Given the description of an element on the screen output the (x, y) to click on. 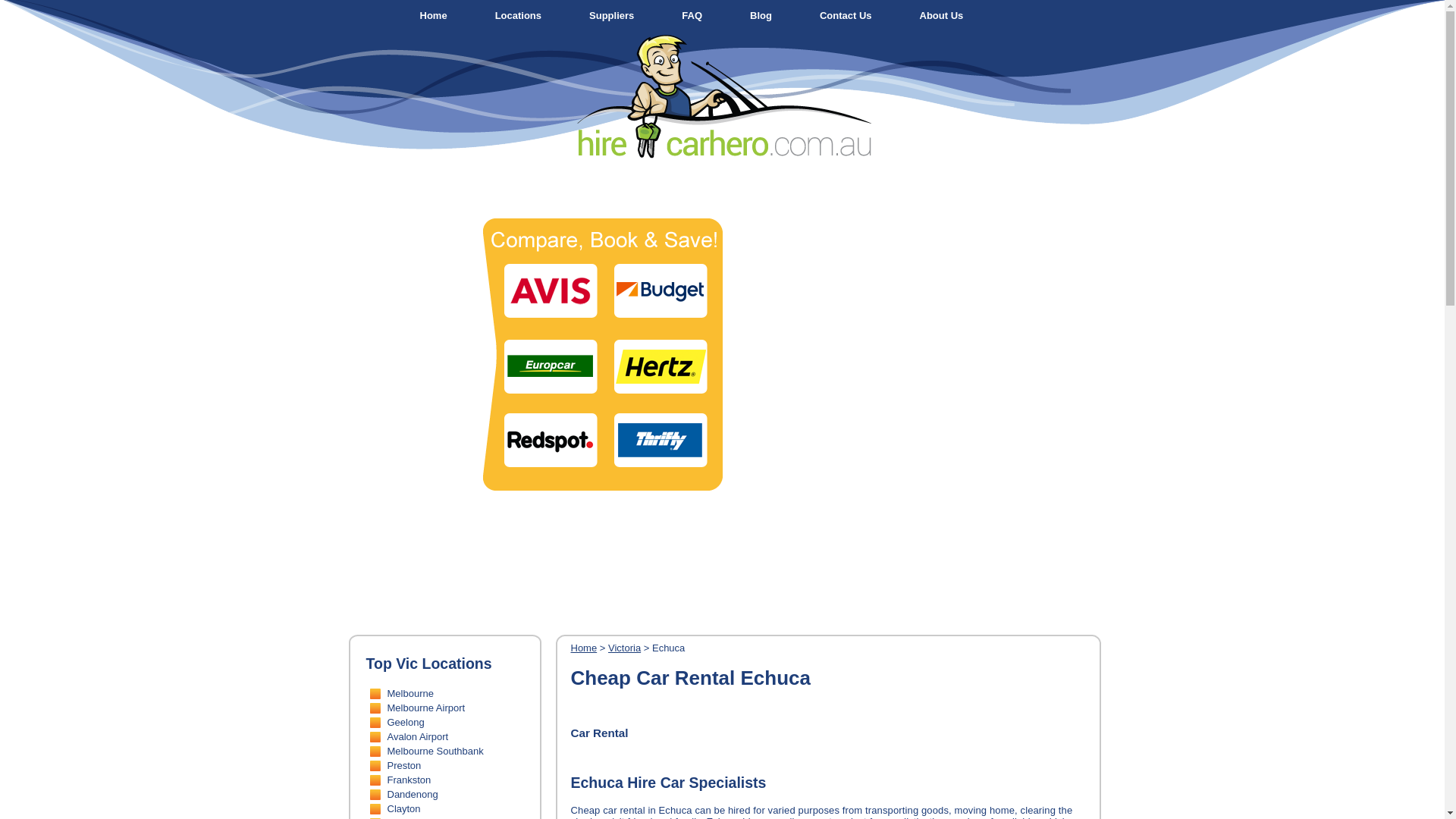
Melbourne Airport Element type: text (425, 707)
Geelong Element type: text (404, 722)
Avalon Airport Element type: text (417, 736)
Suppliers Element type: text (611, 15)
Melbourne Element type: text (409, 693)
Blog Element type: text (760, 15)
Locations Element type: text (518, 15)
Victoria Element type: text (624, 647)
Contact Us Element type: text (845, 15)
Home Element type: text (583, 647)
Home Element type: text (433, 15)
FAQ Element type: text (691, 15)
About Us Element type: text (941, 15)
Clayton Element type: text (403, 808)
Frankston Element type: text (408, 779)
Melbourne Southbank Element type: text (434, 750)
Dandenong Element type: text (411, 794)
Preston Element type: text (403, 765)
